Given the description of an element on the screen output the (x, y) to click on. 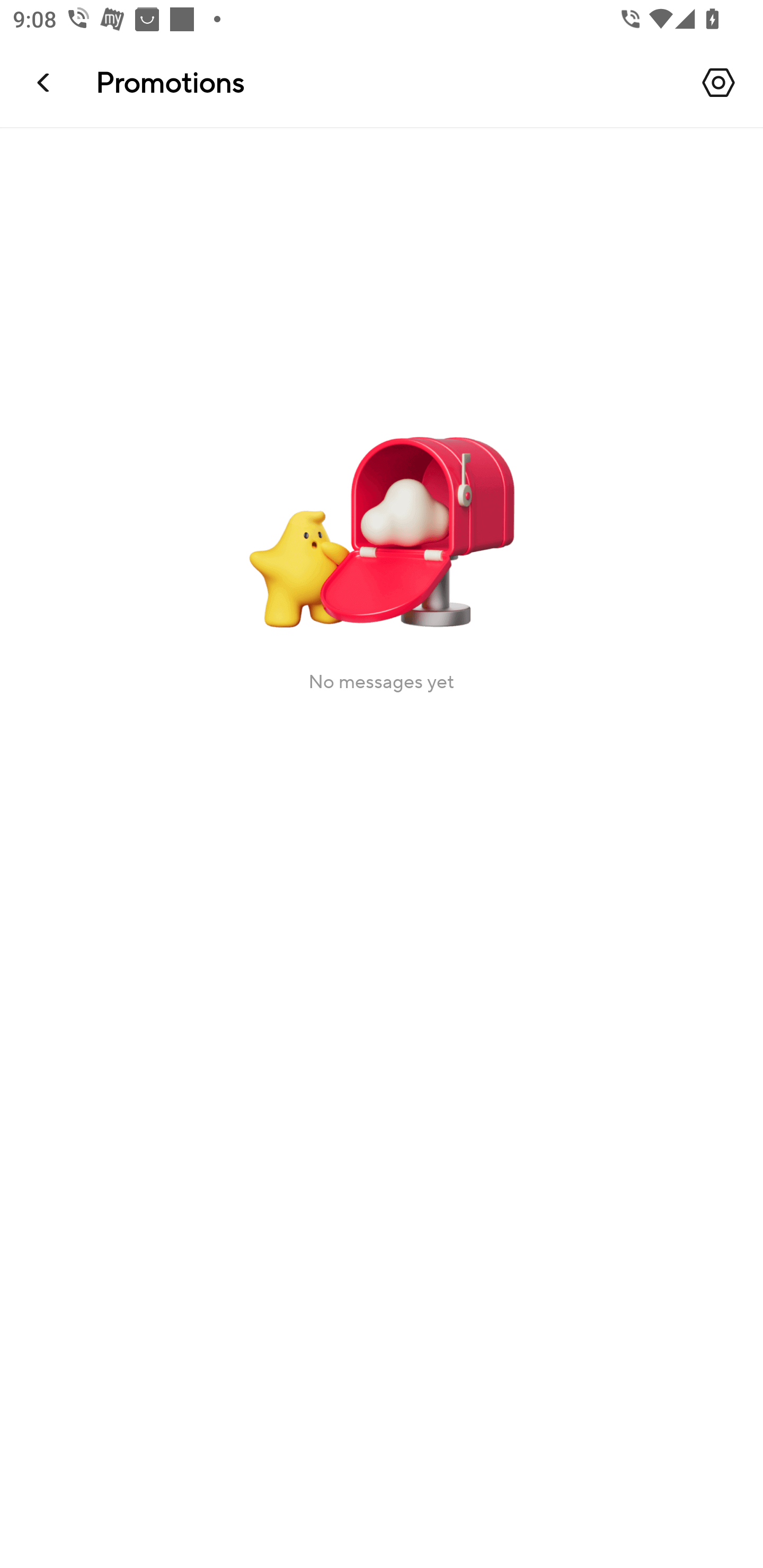
Navigate up (44, 82)
